Given the description of an element on the screen output the (x, y) to click on. 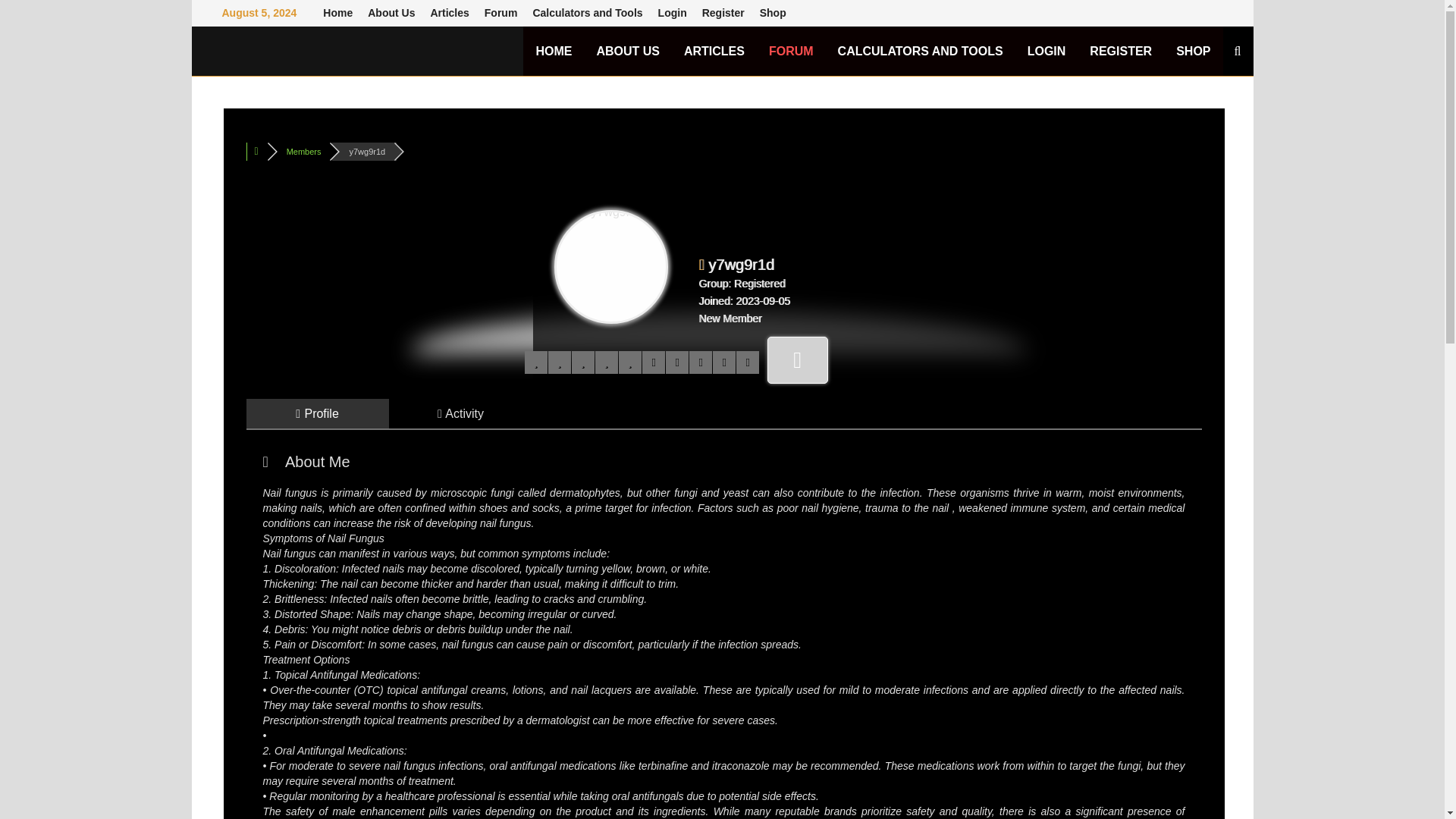
Rating Badge (797, 360)
REGISTER (1120, 51)
Articles (449, 13)
trauma to the nail (908, 508)
Register (723, 13)
Shop (772, 13)
Home (337, 13)
FORUM (791, 51)
Profile (317, 413)
ARTICLES (714, 51)
Activity (461, 413)
Members (303, 151)
CALCULATORS AND TOOLS (919, 51)
About Us (390, 13)
Login (672, 13)
